Given the description of an element on the screen output the (x, y) to click on. 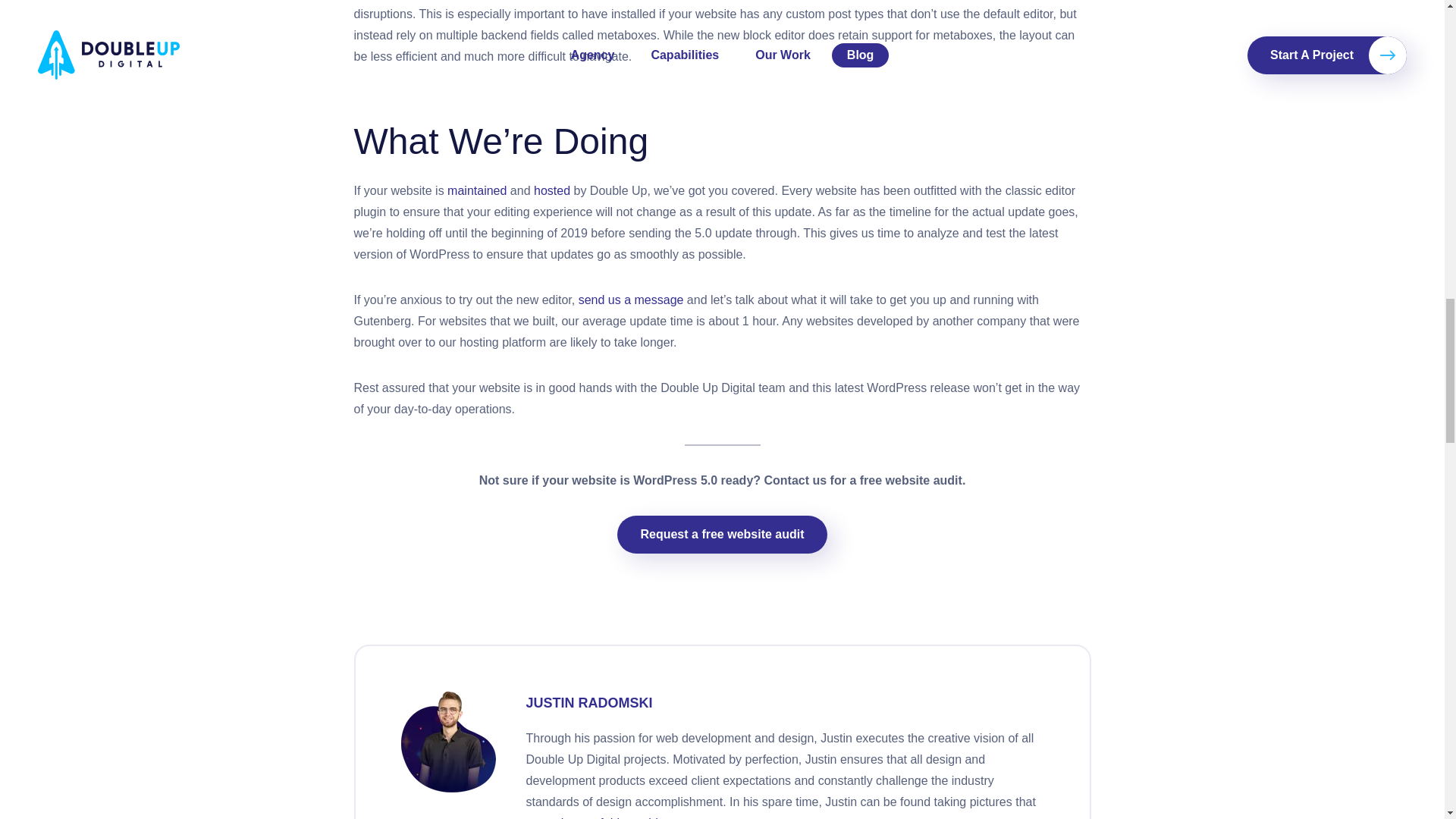
hosted (552, 190)
maintained (476, 190)
truly out of this world (602, 817)
Request a free website audit (722, 534)
send us a message (631, 299)
